Given the description of an element on the screen output the (x, y) to click on. 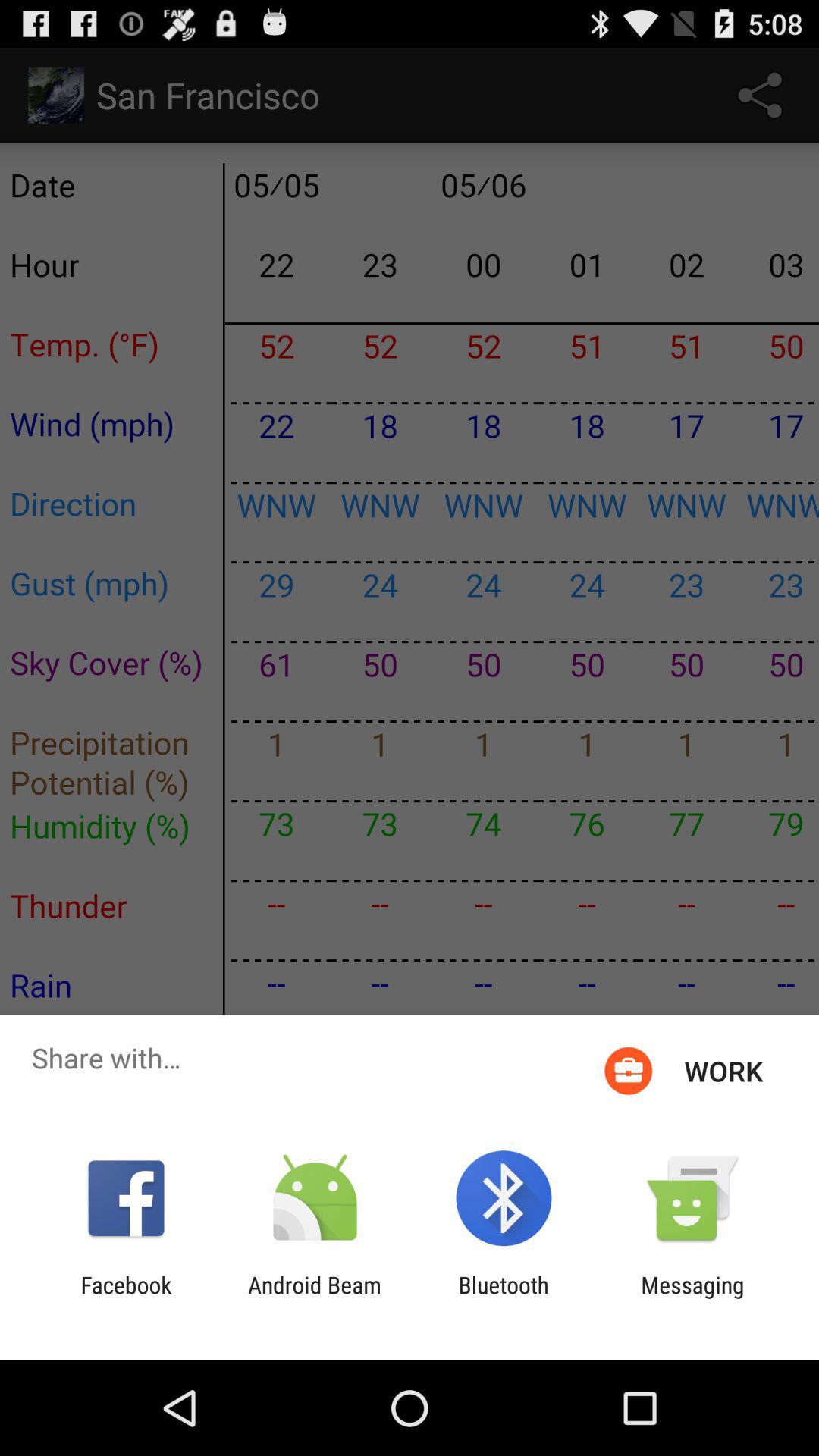
launch app to the left of the android beam icon (125, 1298)
